Given the description of an element on the screen output the (x, y) to click on. 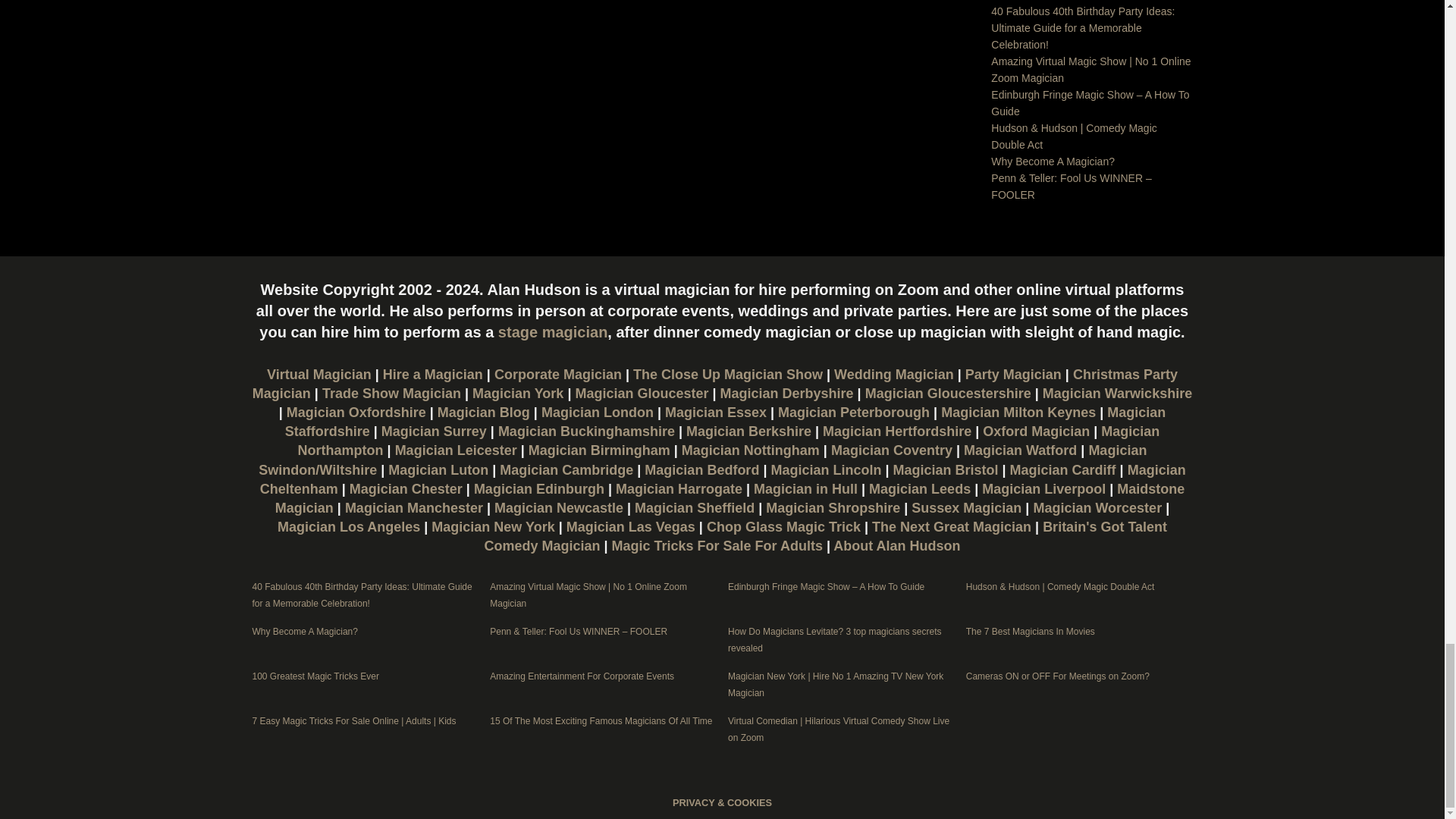
Magician Gloucestershire (947, 393)
Corporate Magician (558, 374)
Why Become A Magician? (1053, 161)
Magician Warwickshire (1117, 393)
Wedding Magician (893, 374)
Hire a Magician (432, 374)
The Close Up Magician Show (727, 374)
Magician London (597, 412)
Magician Derbyshire (786, 393)
